Given the description of an element on the screen output the (x, y) to click on. 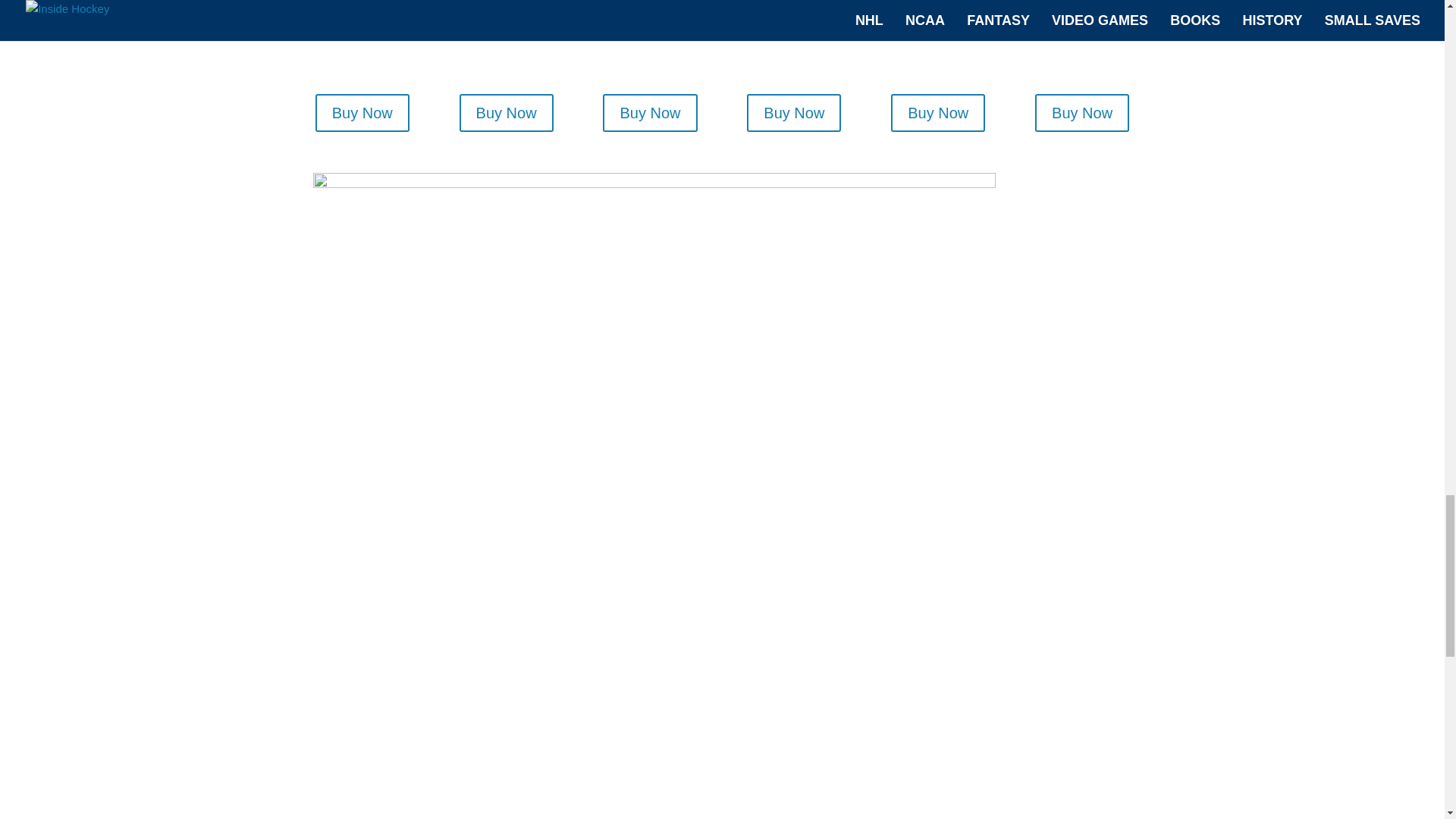
Buy Now (506, 112)
jersey-fla-tkachuk (505, 35)
Buy Now (1082, 112)
jersey-tbl-hedman (793, 35)
jersey-pit-crosby (937, 35)
Buy Now (362, 112)
jersey-was-ovechkin (361, 35)
jersey-tor-matthews (648, 35)
Buy Now (793, 112)
